Given the description of an element on the screen output the (x, y) to click on. 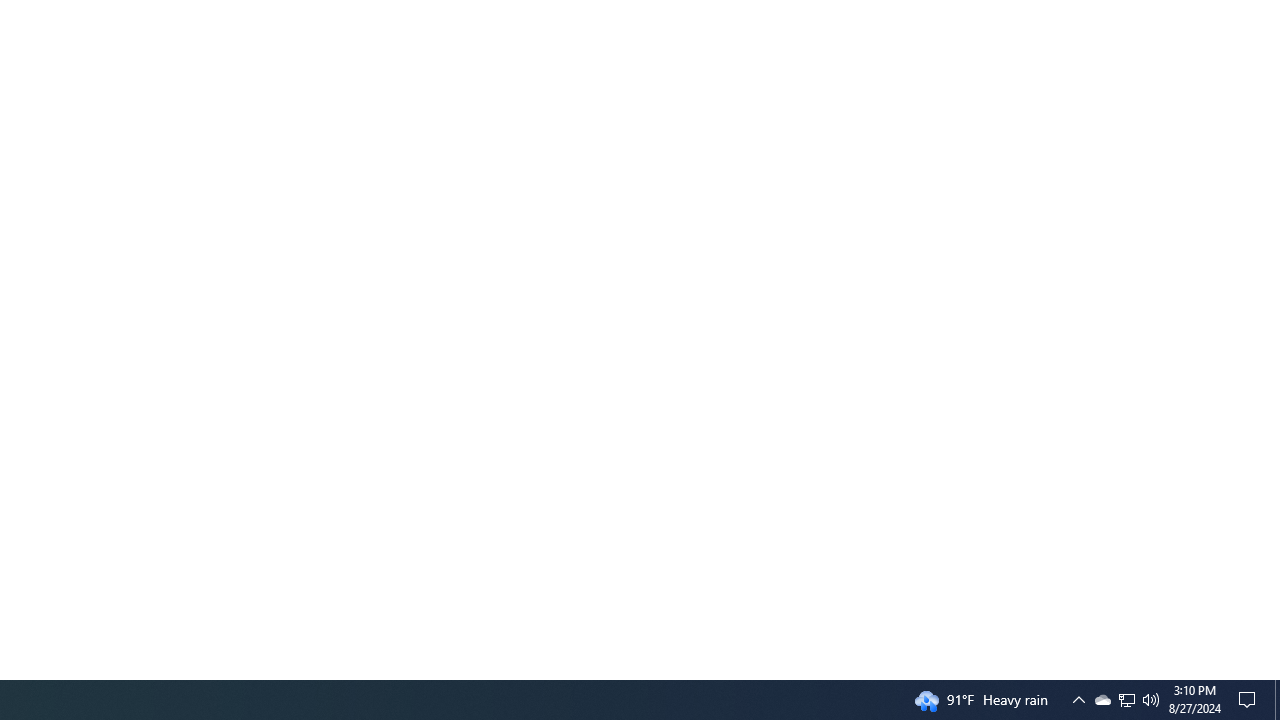
Notification Chevron (1078, 699)
Show desktop (1277, 699)
Q2790: 100% (1151, 699)
Action Center, No new notifications (1126, 699)
User Promoted Notification Area (1102, 699)
